Given the description of an element on the screen output the (x, y) to click on. 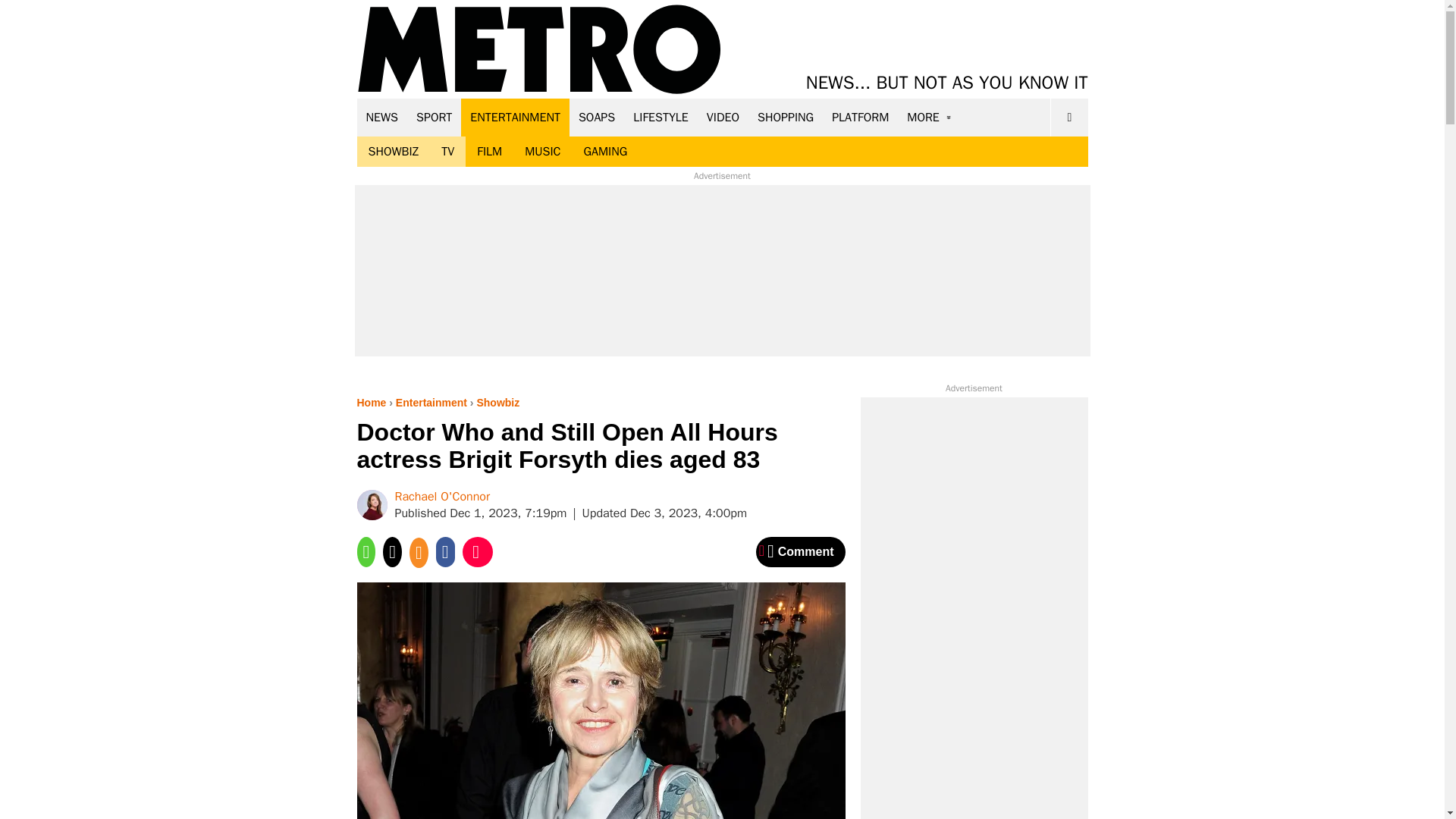
FILM (489, 151)
ENTERTAINMENT (515, 117)
SHOWBIZ (392, 151)
LIFESTYLE (660, 117)
MUSIC (542, 151)
TV (447, 151)
GAMING (605, 151)
Metro (539, 50)
SOAPS (596, 117)
SPORT (434, 117)
NEWS (381, 117)
